Given the description of an element on the screen output the (x, y) to click on. 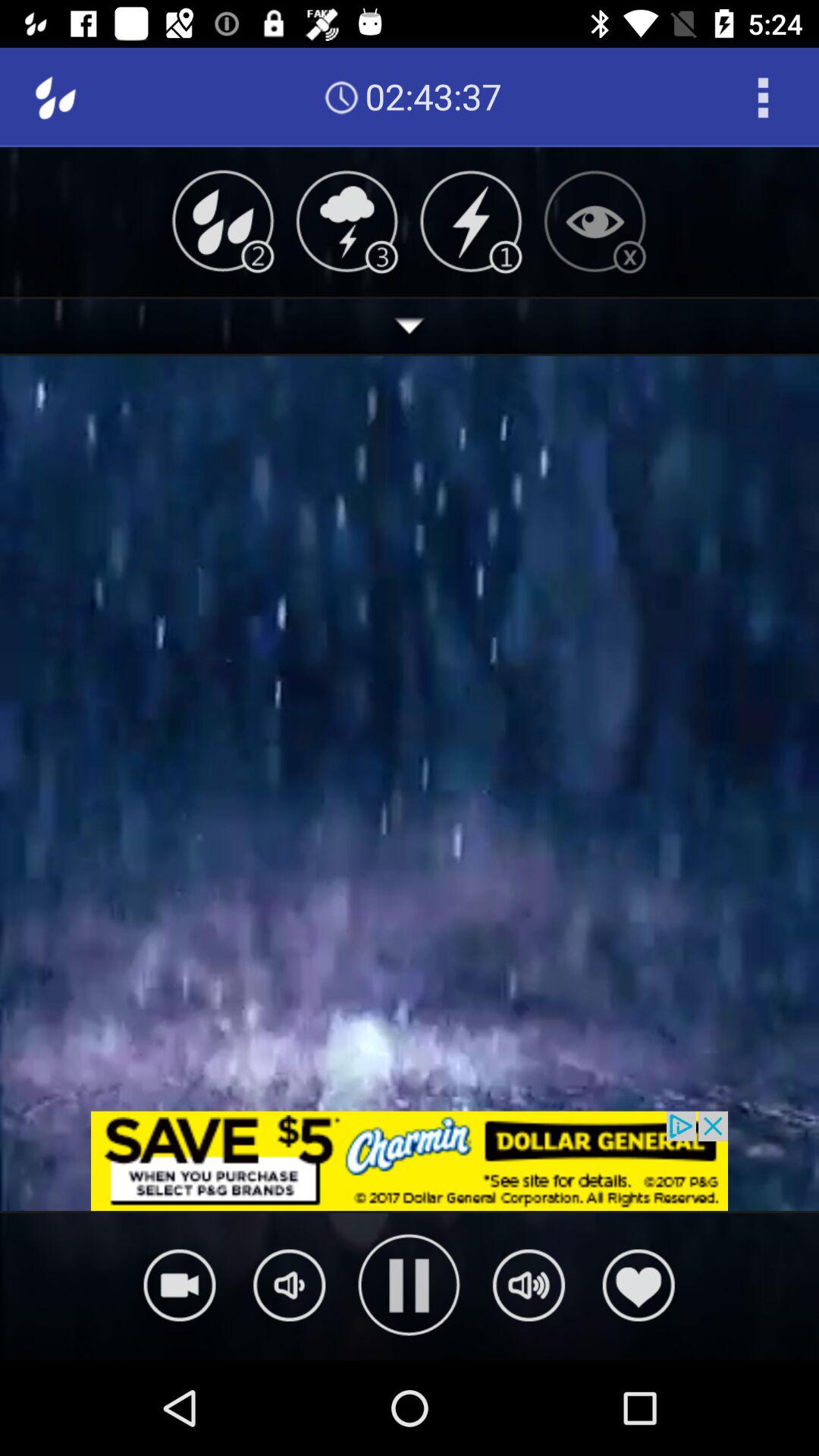
launch icon next to the 02:43:36 icon (763, 97)
